Given the description of an element on the screen output the (x, y) to click on. 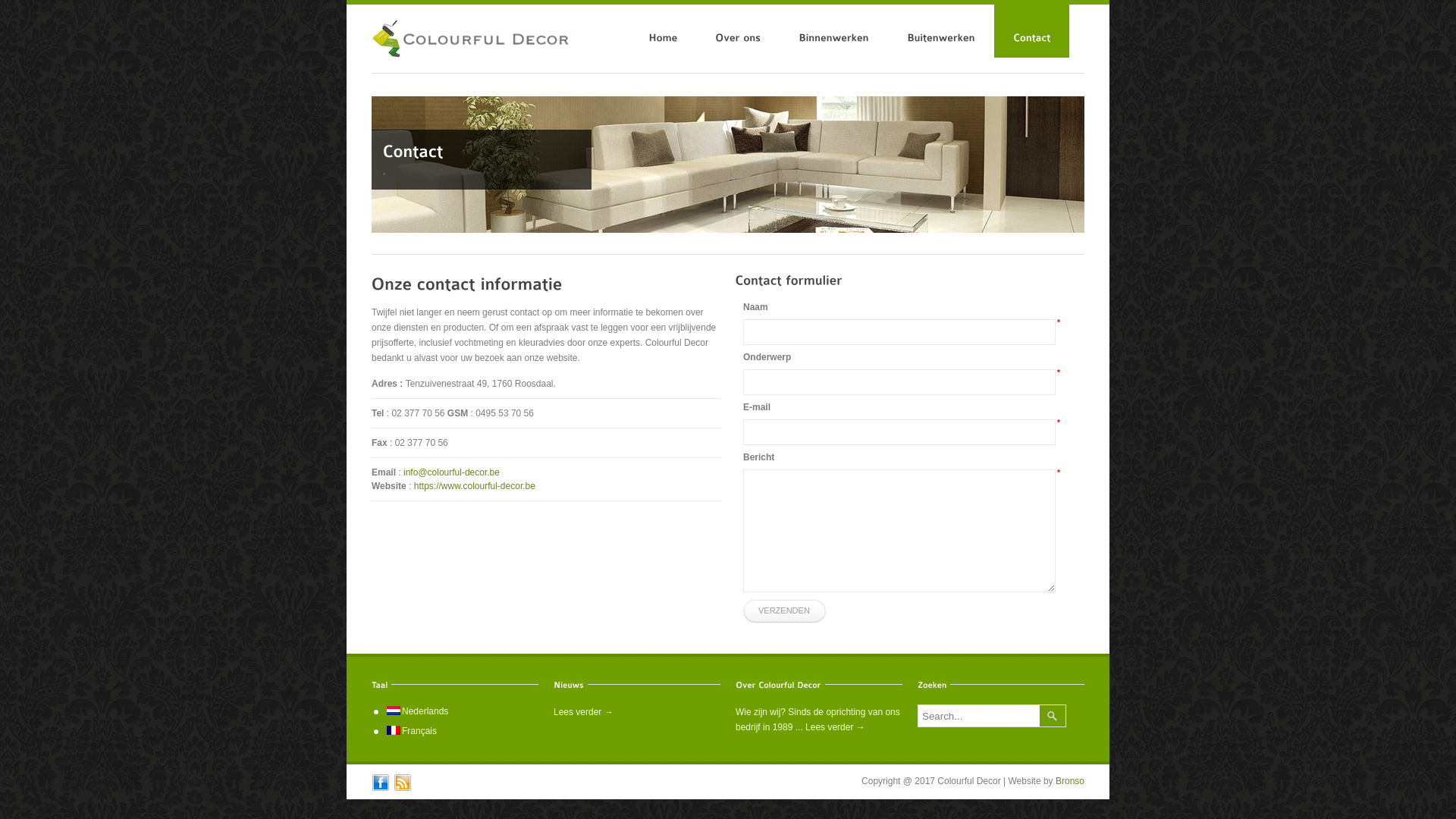
https://www.colourful-decor.be Element type: text (474, 485)
info@colourful-decor.be Element type: text (451, 472)
Bronso Element type: text (1069, 780)
VERZENDEN Element type: text (784, 611)
Nederlands Element type: text (417, 711)
